Given the description of an element on the screen output the (x, y) to click on. 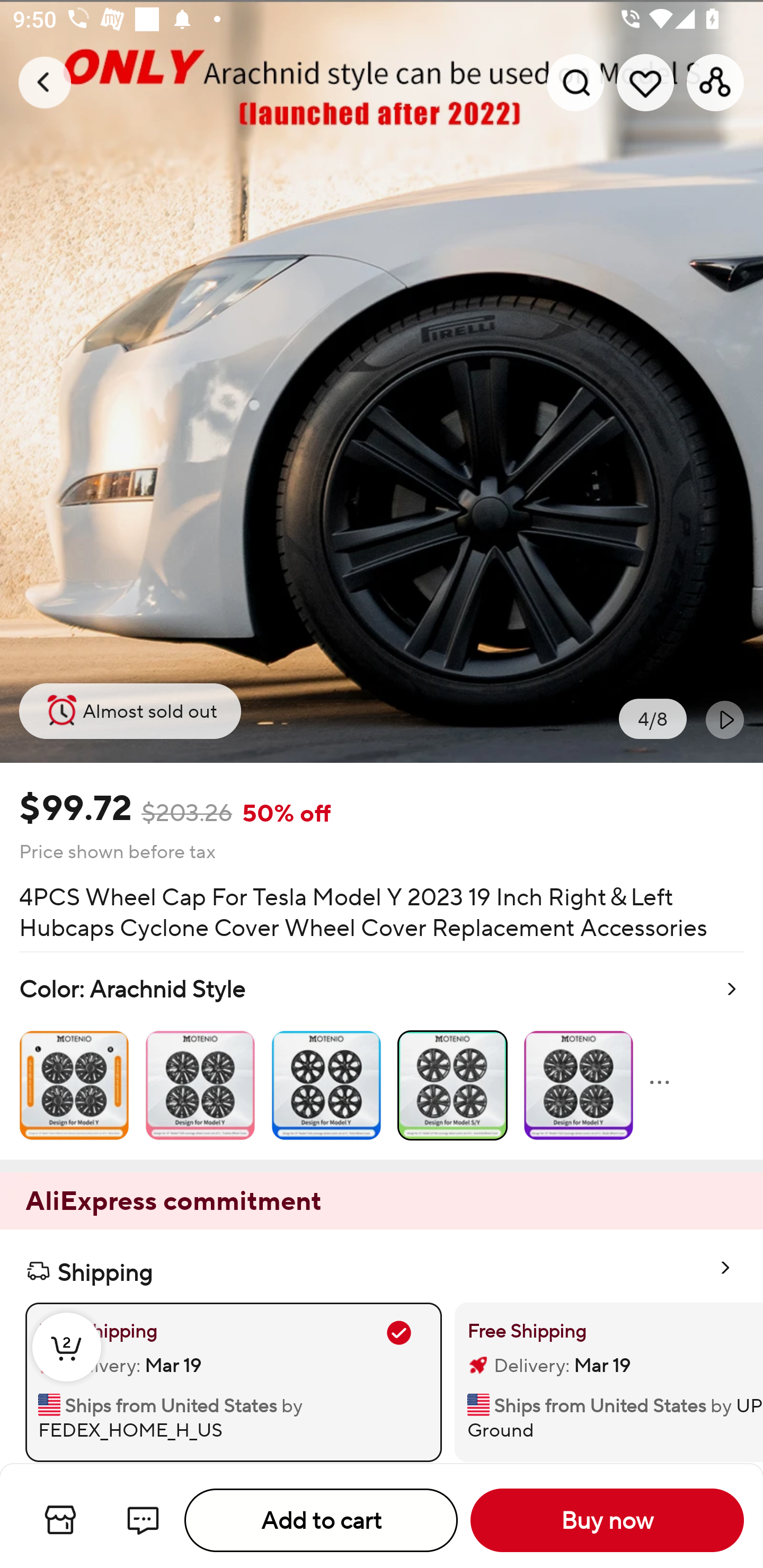
Navigate up (44, 82)
 (724, 719)
Color: Arachnid Style  (381, 1055)
2 (66, 1366)
Add to cart (320, 1520)
Buy now (606, 1520)
